Given the description of an element on the screen output the (x, y) to click on. 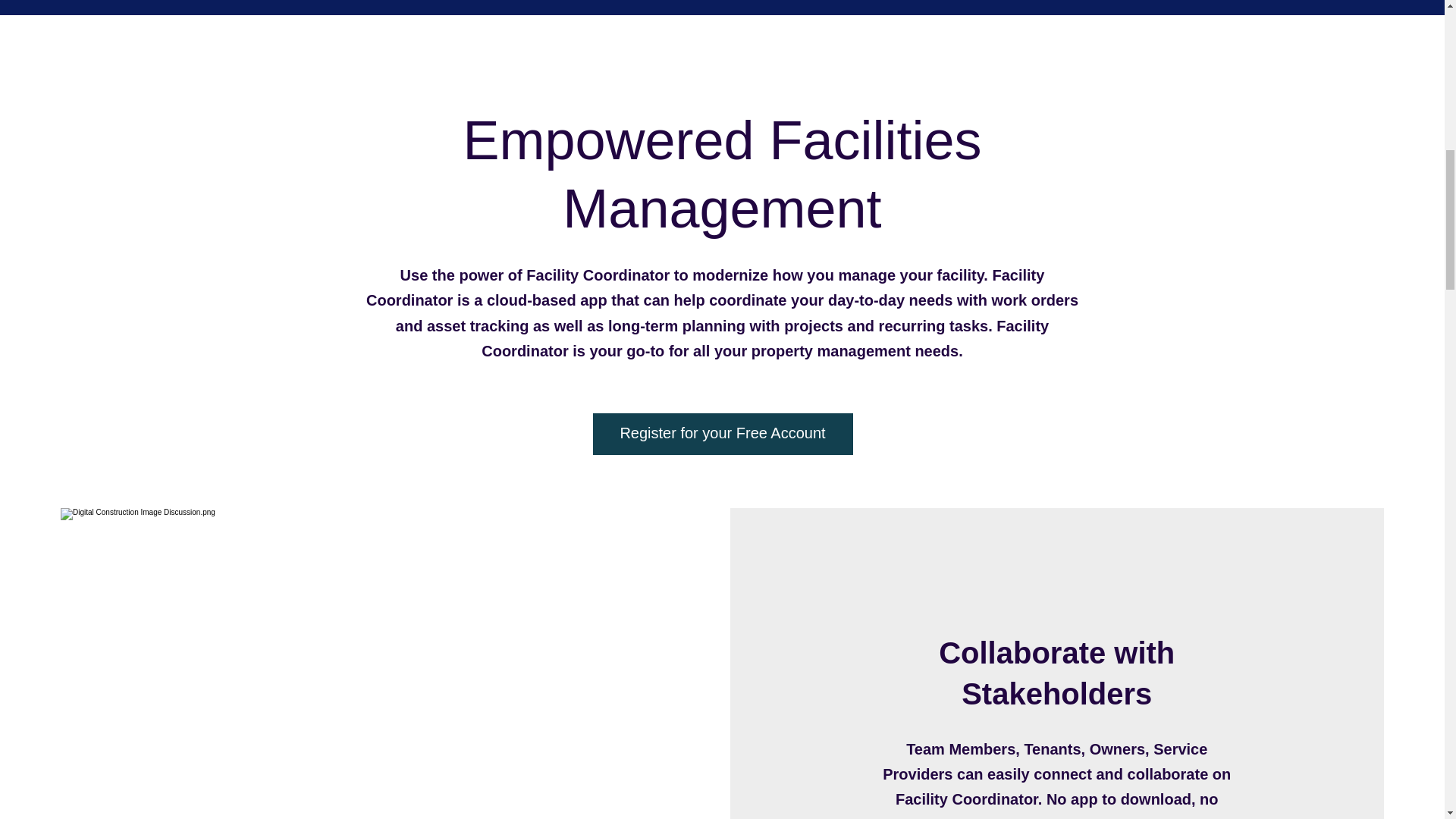
Register for your Free Account (722, 434)
